Given the description of an element on the screen output the (x, y) to click on. 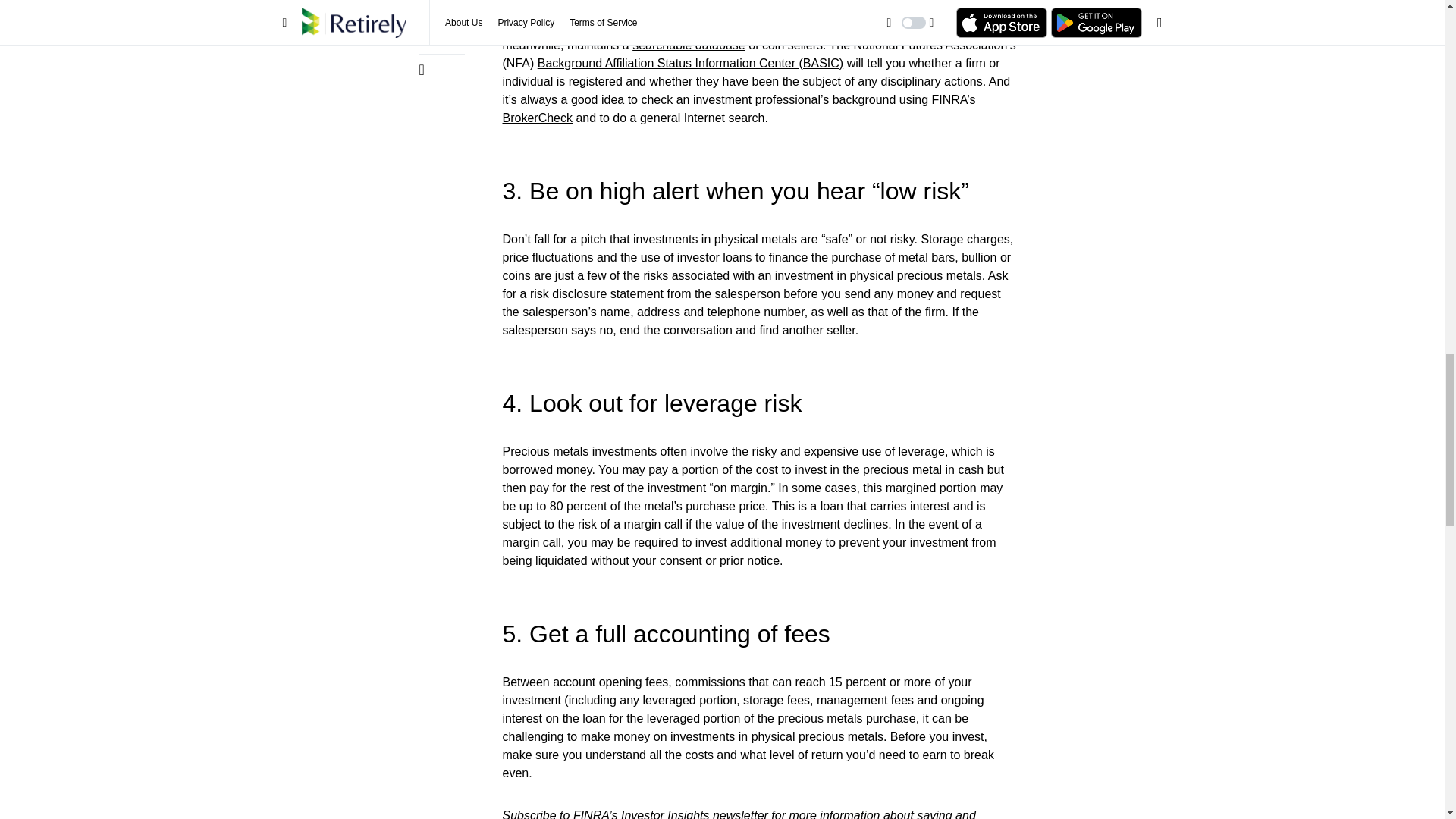
BrokerCheck (537, 117)
searchable database (688, 44)
margin call (531, 542)
Investor Insights (665, 814)
